Given the description of an element on the screen output the (x, y) to click on. 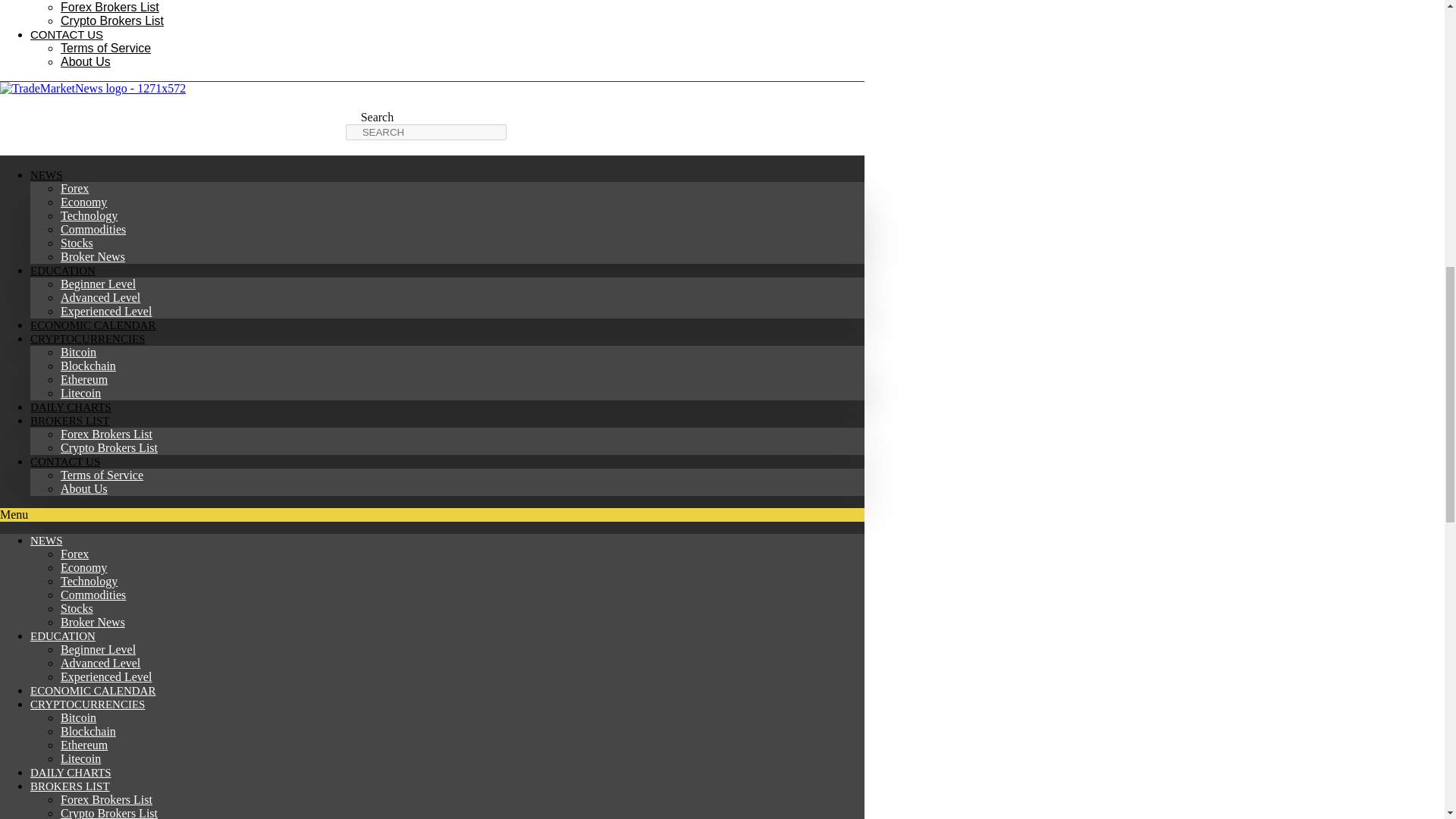
Search (426, 132)
